Given the description of an element on the screen output the (x, y) to click on. 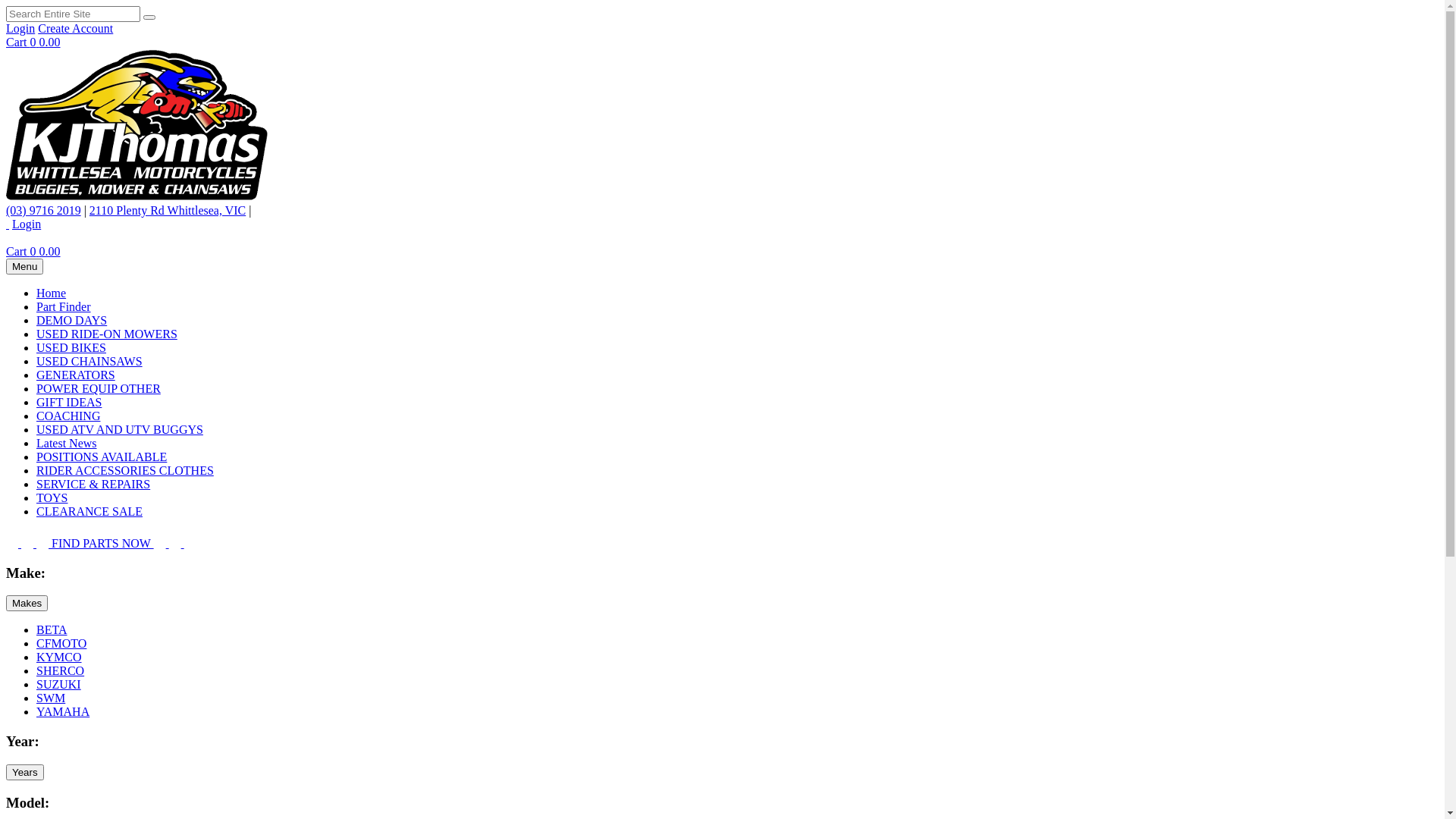
BETA Element type: text (51, 629)
USED ATV AND UTV BUGGYS Element type: text (119, 429)
COACHING Element type: text (68, 415)
Latest News Element type: text (66, 442)
DEMO DAYS Element type: text (71, 319)
Makes Element type: text (26, 603)
Cart 0 0.00 Element type: text (33, 41)
USED BIKES Element type: text (71, 347)
USED CHAINSAWS Element type: text (89, 360)
YAMAHA Element type: text (62, 711)
Home Element type: text (50, 292)
SUZUKI Element type: text (58, 683)
Login Element type: text (20, 27)
TOYS Element type: text (52, 497)
FIND PARTS NOW Element type: text (101, 542)
Create Account Element type: text (74, 27)
(03) 9716 2019 Element type: text (43, 209)
CFMOTO Element type: text (61, 643)
Part Finder Element type: text (63, 306)
RIDER ACCESSORIES CLOTHES Element type: text (124, 470)
POWER EQUIP OTHER Element type: text (98, 388)
KYMCO Element type: text (58, 656)
Login Element type: text (26, 223)
  Element type: text (7, 223)
SWM Element type: text (50, 697)
Cart 0 0.00 Element type: text (33, 250)
SERVICE & REPAIRS Element type: text (93, 483)
POSITIONS AVAILABLE Element type: text (101, 456)
SHERCO Element type: text (60, 670)
Menu Element type: text (24, 266)
USED RIDE-ON MOWERS Element type: text (106, 333)
CLEARANCE SALE Element type: text (89, 511)
2110 Plenty Rd Whittlesea, VIC Element type: text (167, 209)
GENERATORS Element type: text (75, 374)
GIFT IDEAS Element type: text (68, 401)
Years Element type: text (24, 772)
